Given the description of an element on the screen output the (x, y) to click on. 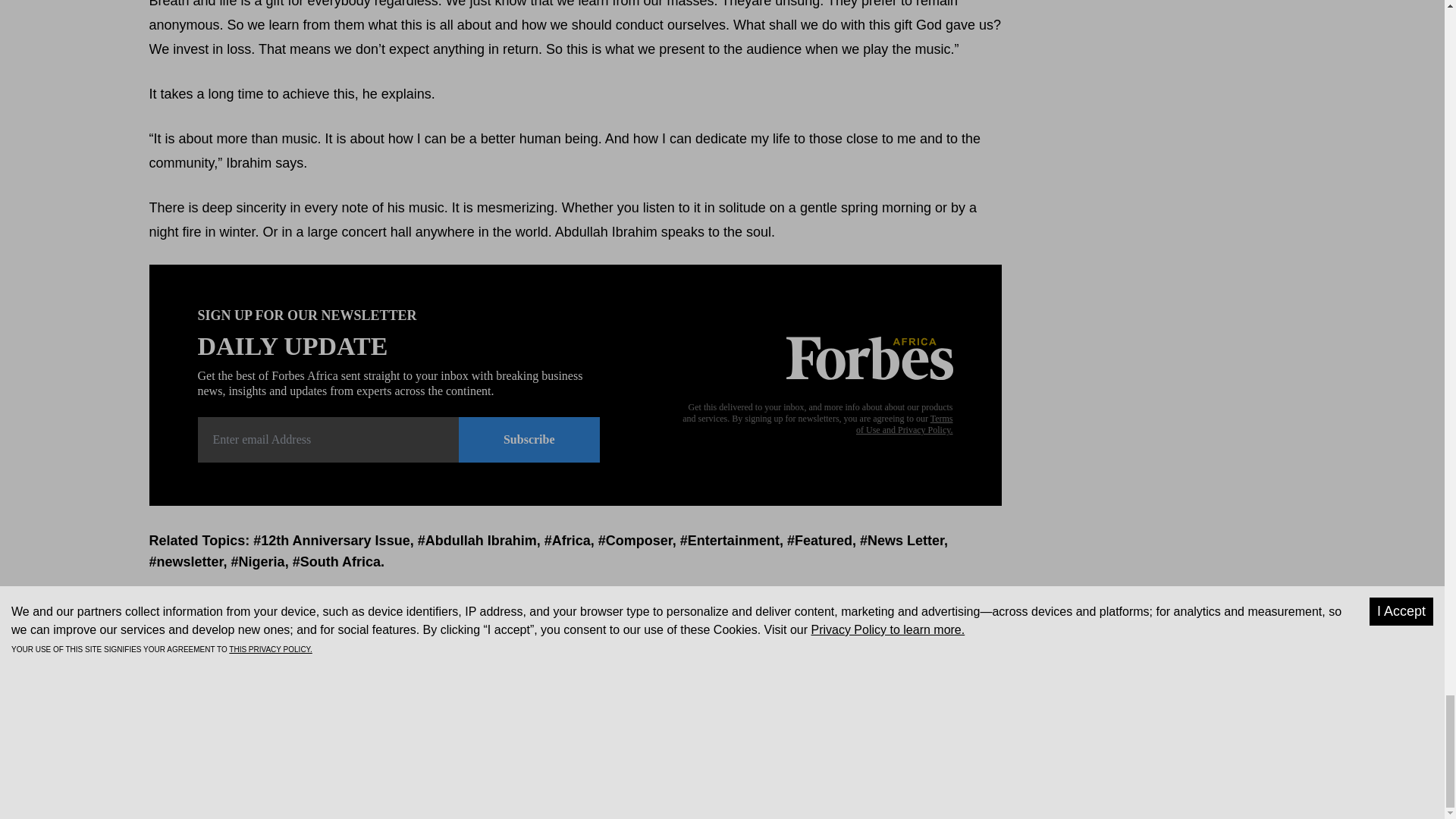
Entertainment (732, 540)
Entrepreneurs (862, 687)
Cover Story (788, 687)
Nigeria (261, 561)
Terms of Use and Privacy Policy. (904, 423)
Lists (1034, 687)
Subscribe (528, 439)
News Letter (905, 540)
Composer (638, 540)
Featured (822, 540)
